Given the description of an element on the screen output the (x, y) to click on. 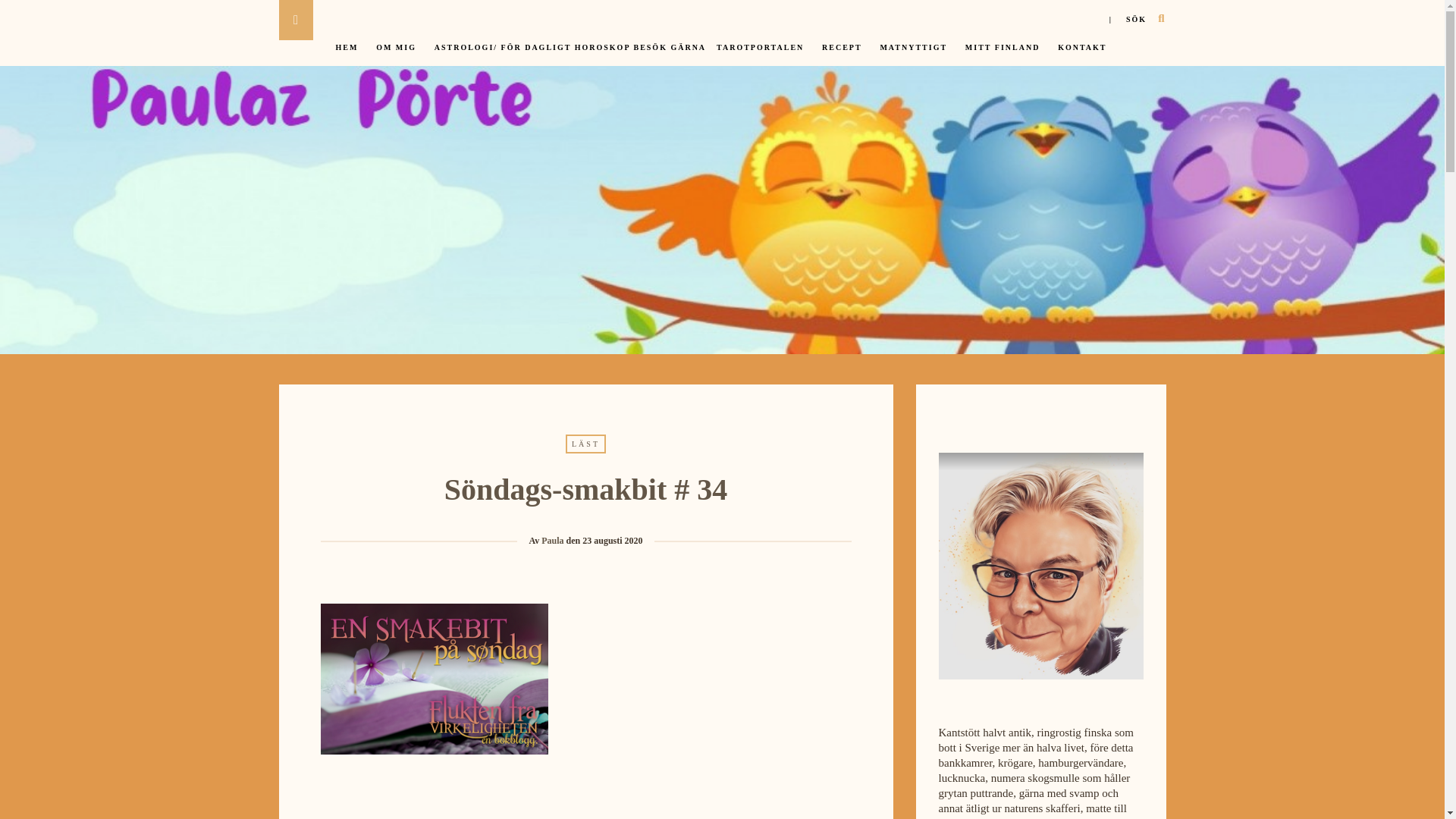
RECEPT (845, 55)
KONTAKT (1085, 55)
HEM (349, 55)
MATNYTTIGT (917, 55)
OM MIG (399, 55)
TAROTPORTALEN (763, 55)
MITT FINLAND (1006, 55)
